Given the description of an element on the screen output the (x, y) to click on. 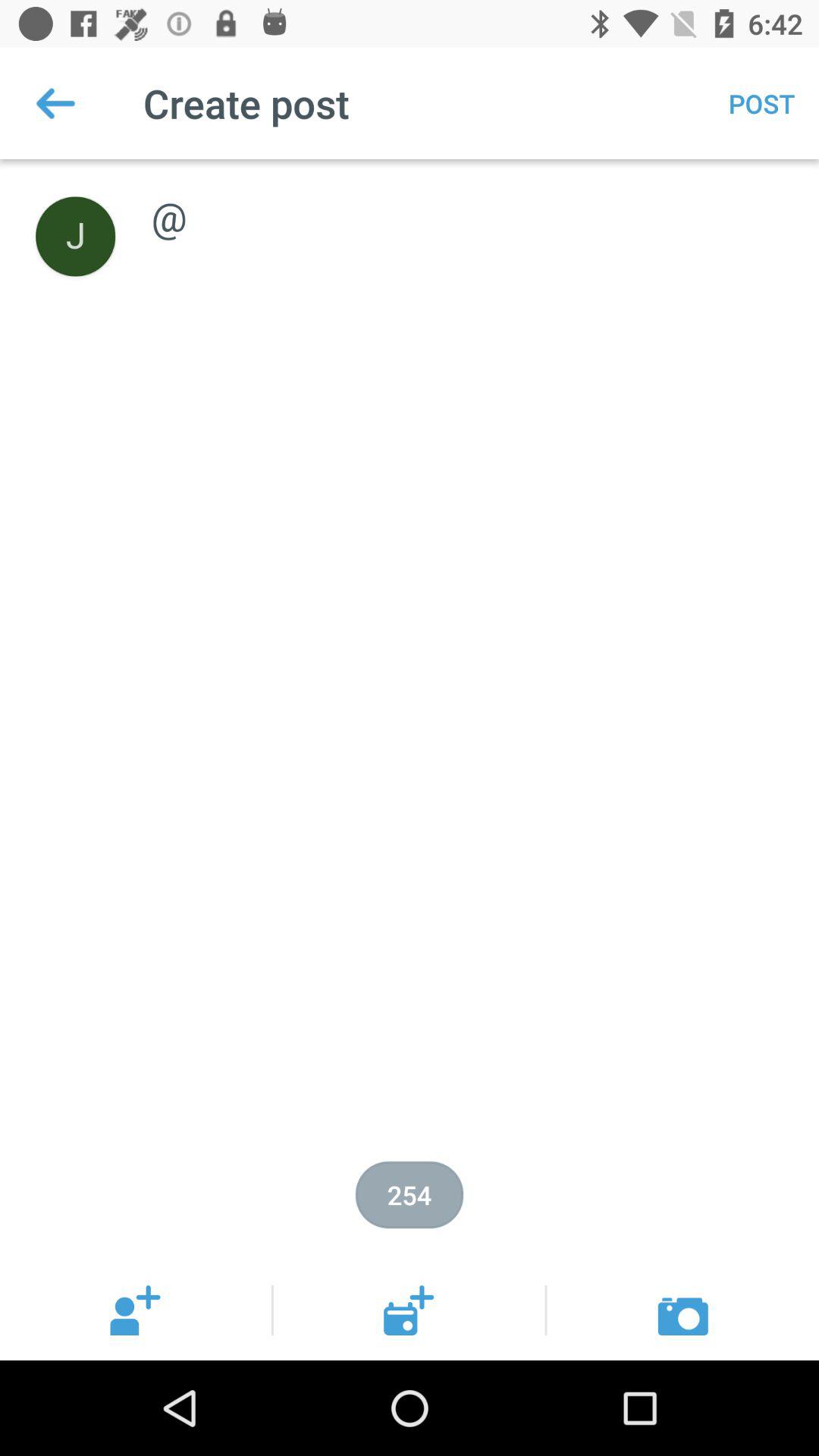
press @ item (469, 200)
